Given the description of an element on the screen output the (x, y) to click on. 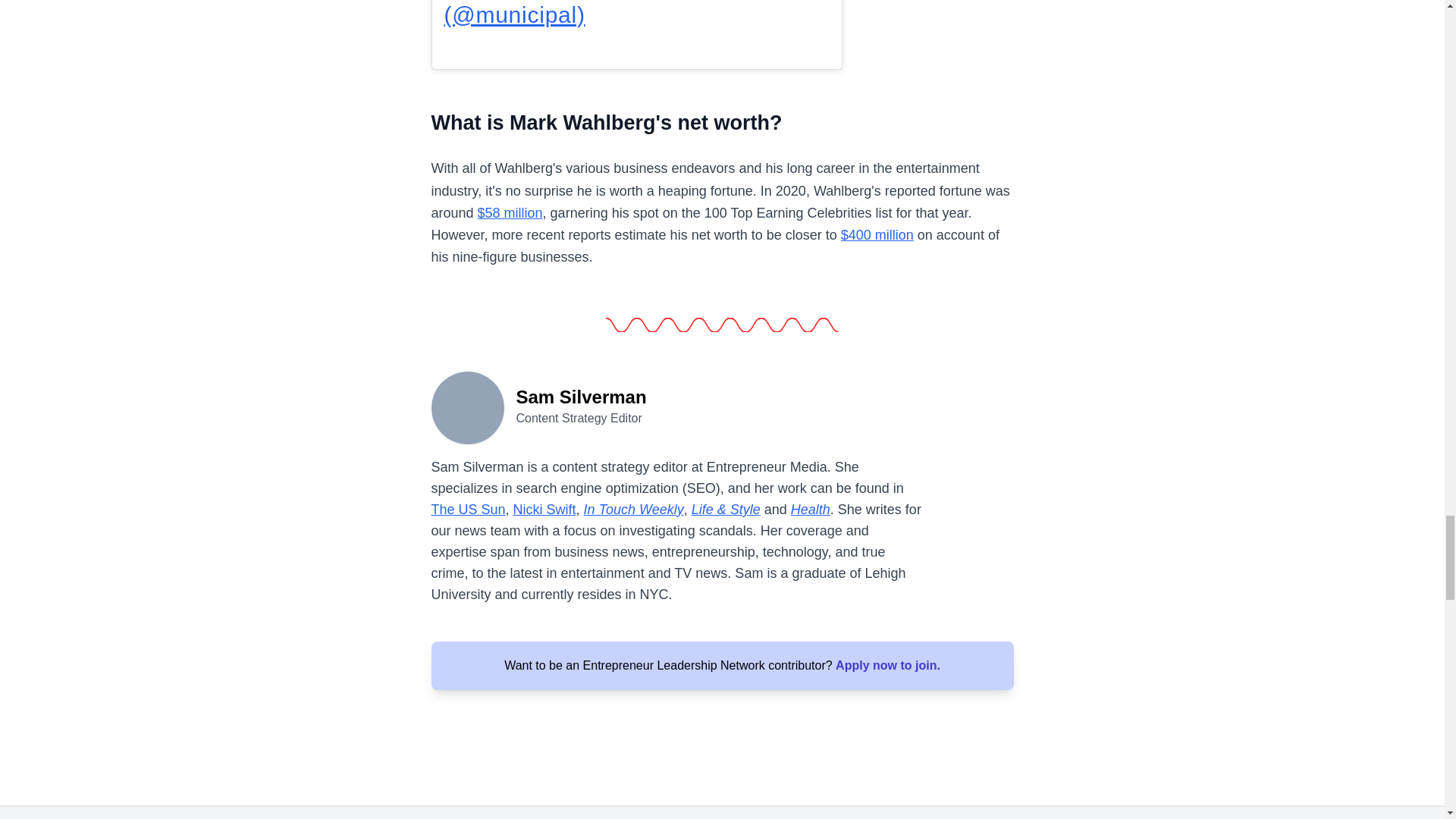
Sam Silverman (466, 406)
